Given the description of an element on the screen output the (x, y) to click on. 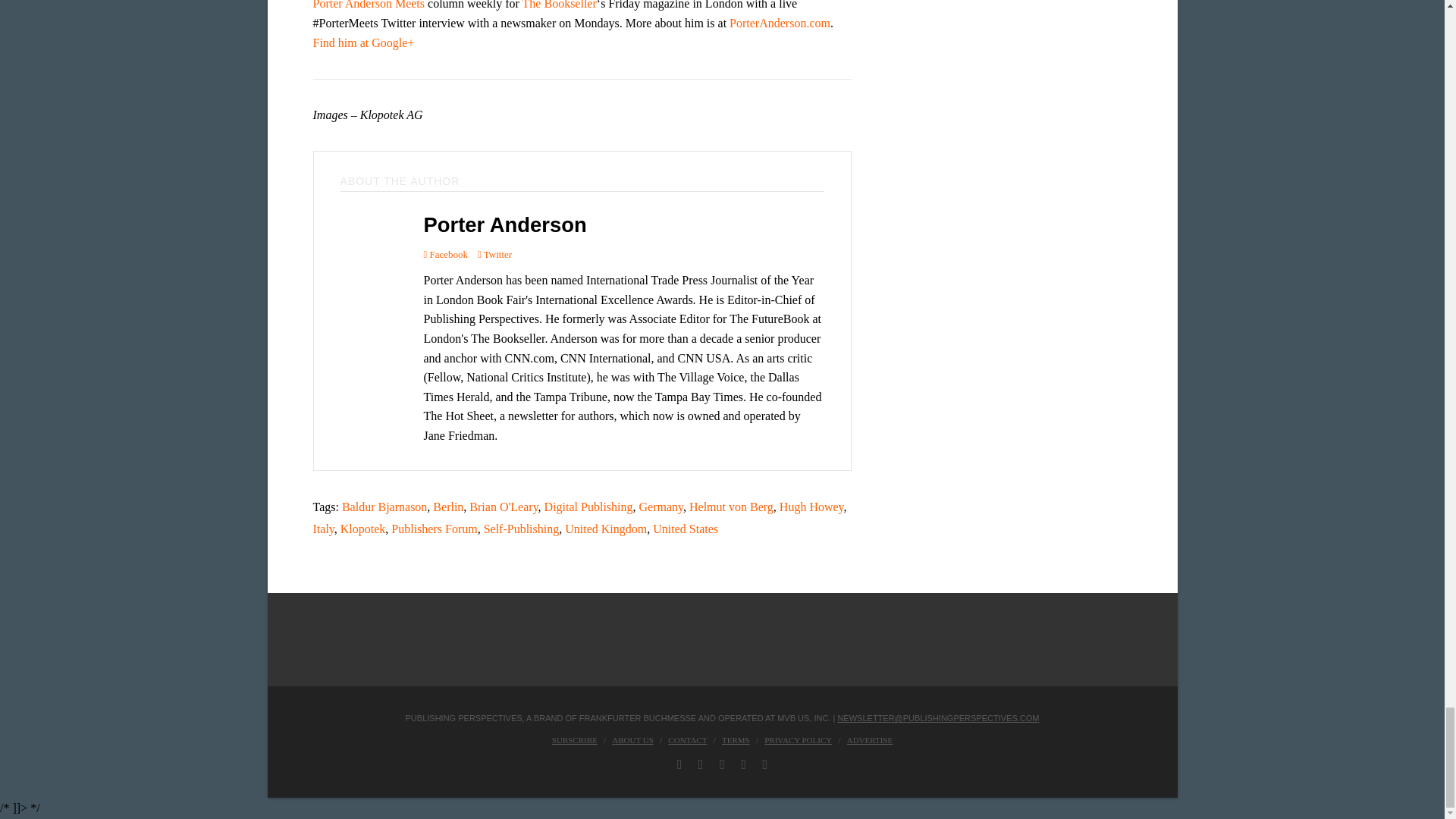
Subscribe to Publishing Perspectives (573, 739)
Terms and Conditions (735, 739)
Visit the Facebook Profile for Porter Anderson (445, 253)
Visit the Twitter Profile for Porter Anderson (494, 253)
